Given the description of an element on the screen output the (x, y) to click on. 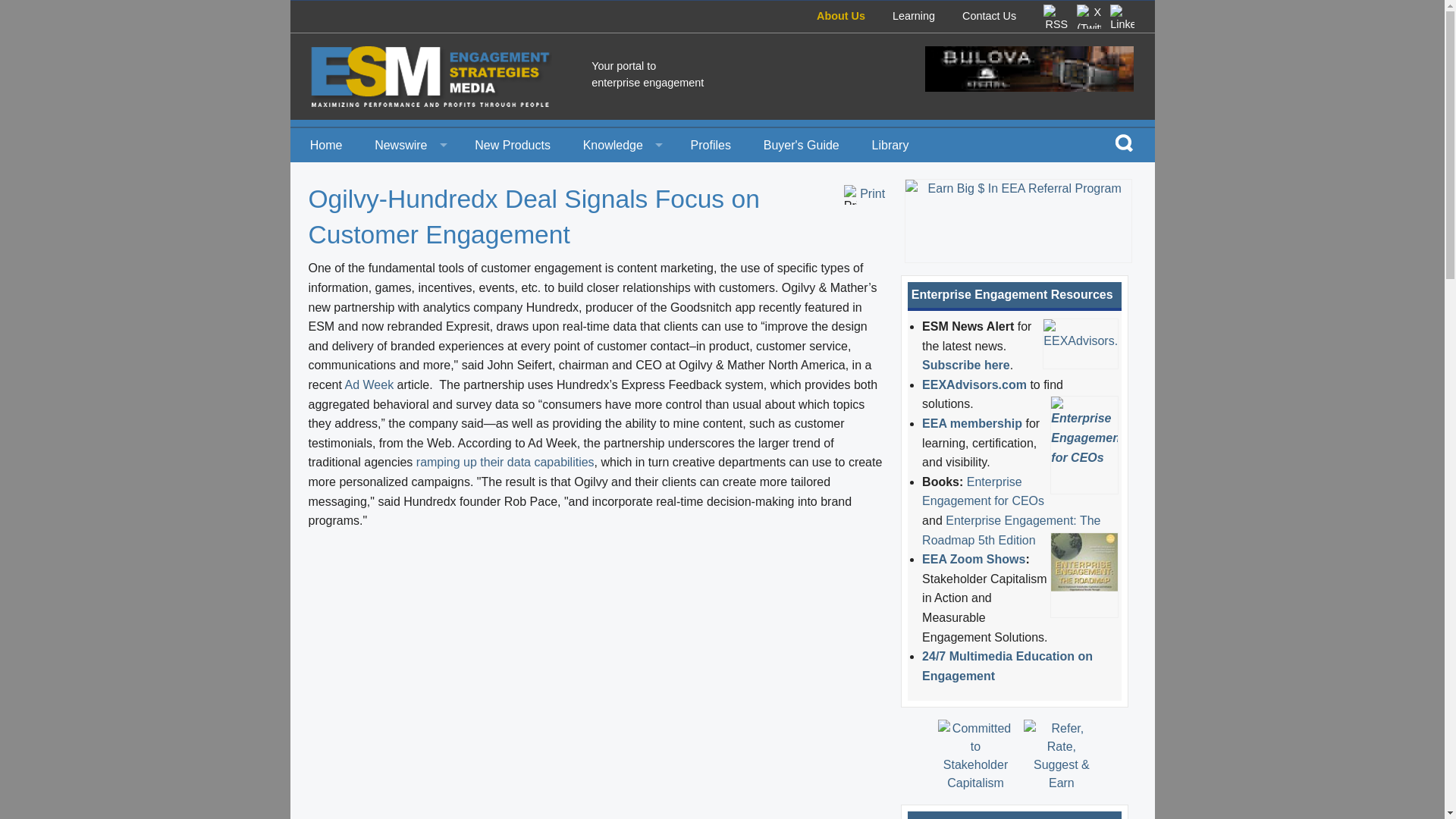
About Us (840, 15)
Engagement Radio (620, 247)
News (407, 179)
Newswire (407, 144)
Buyer's Guide (801, 144)
How To (620, 179)
New Products (512, 144)
Search (1123, 141)
Learning (913, 15)
Books (620, 281)
